Given the description of an element on the screen output the (x, y) to click on. 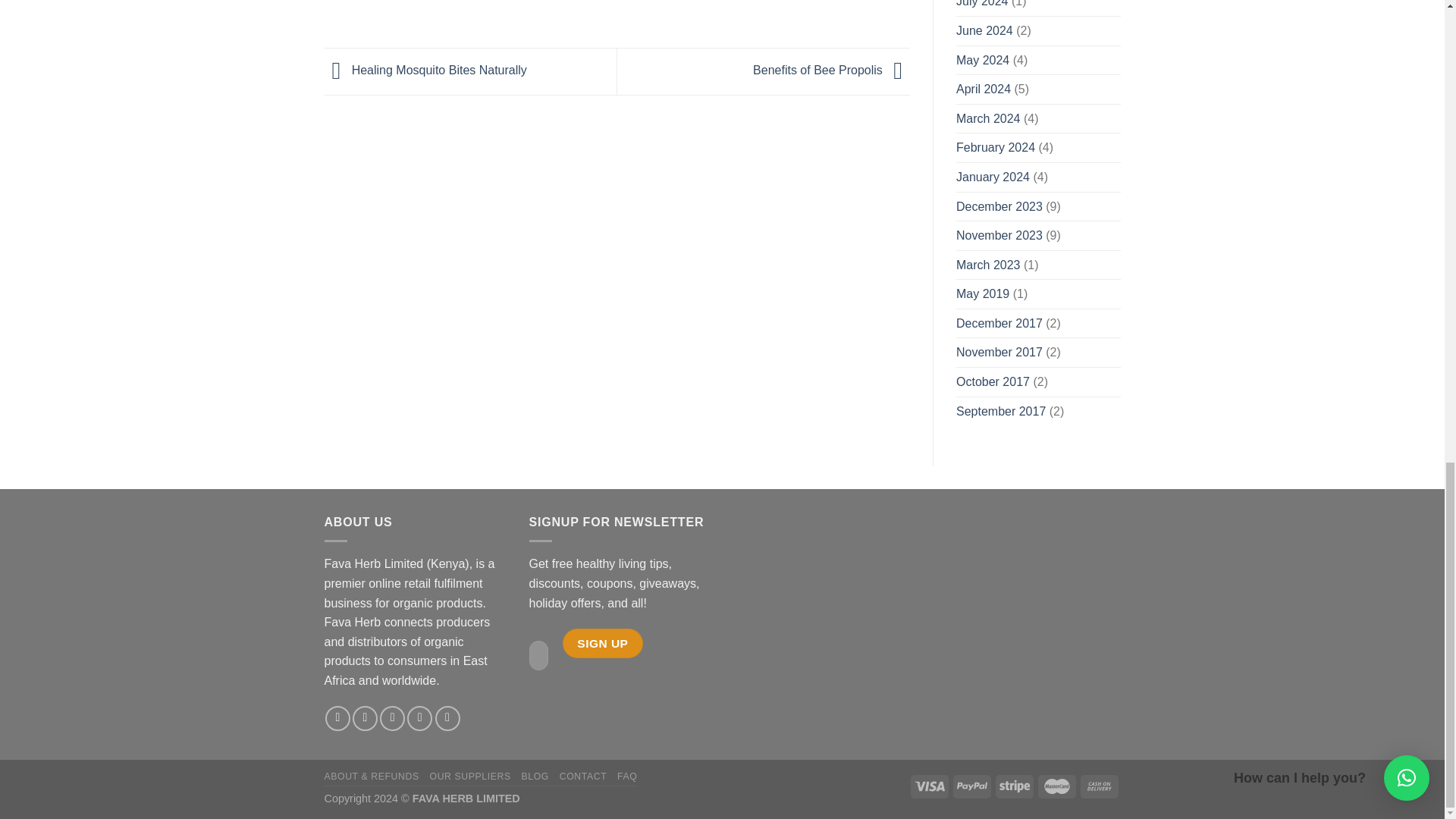
Sign Up (602, 643)
